Given the description of an element on the screen output the (x, y) to click on. 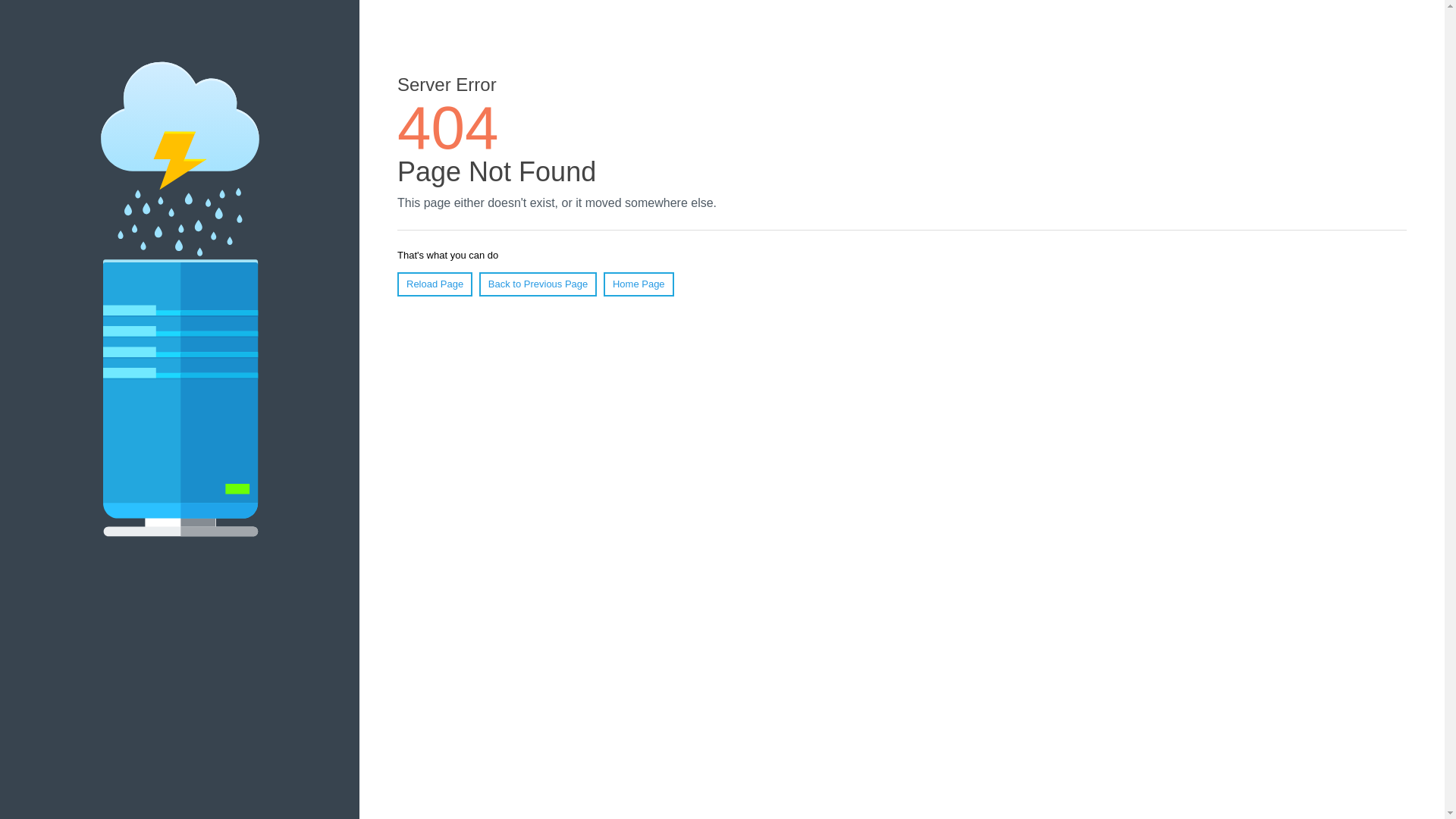
Home Page Element type: text (638, 284)
Back to Previous Page Element type: text (538, 284)
Reload Page Element type: text (434, 284)
